Given the description of an element on the screen output the (x, y) to click on. 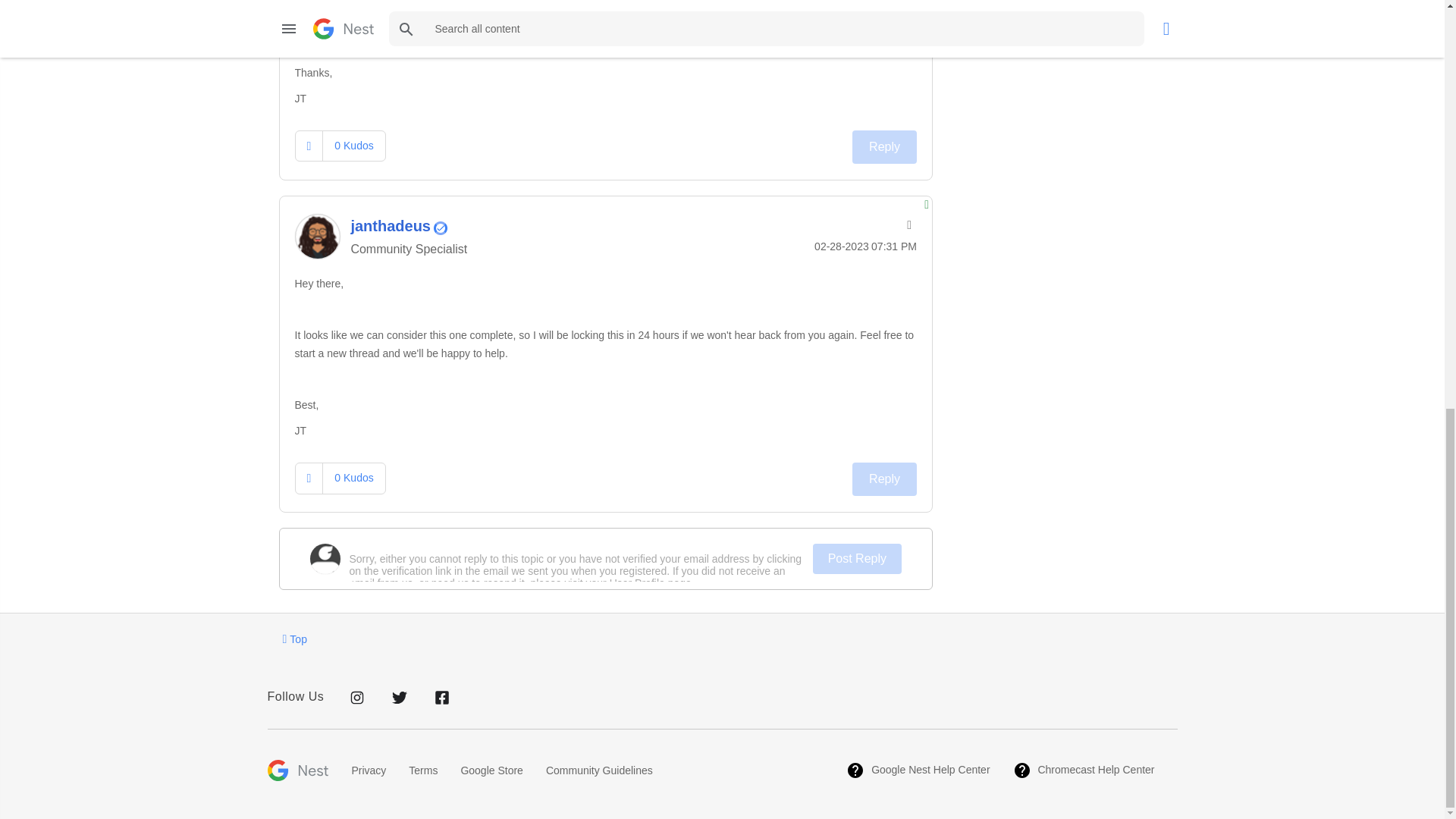
Top (293, 638)
Top (293, 638)
Click here to give kudos to this post. (309, 145)
janthadeus (316, 236)
The total number of kudos this post has received. (353, 145)
